Given the description of an element on the screen output the (x, y) to click on. 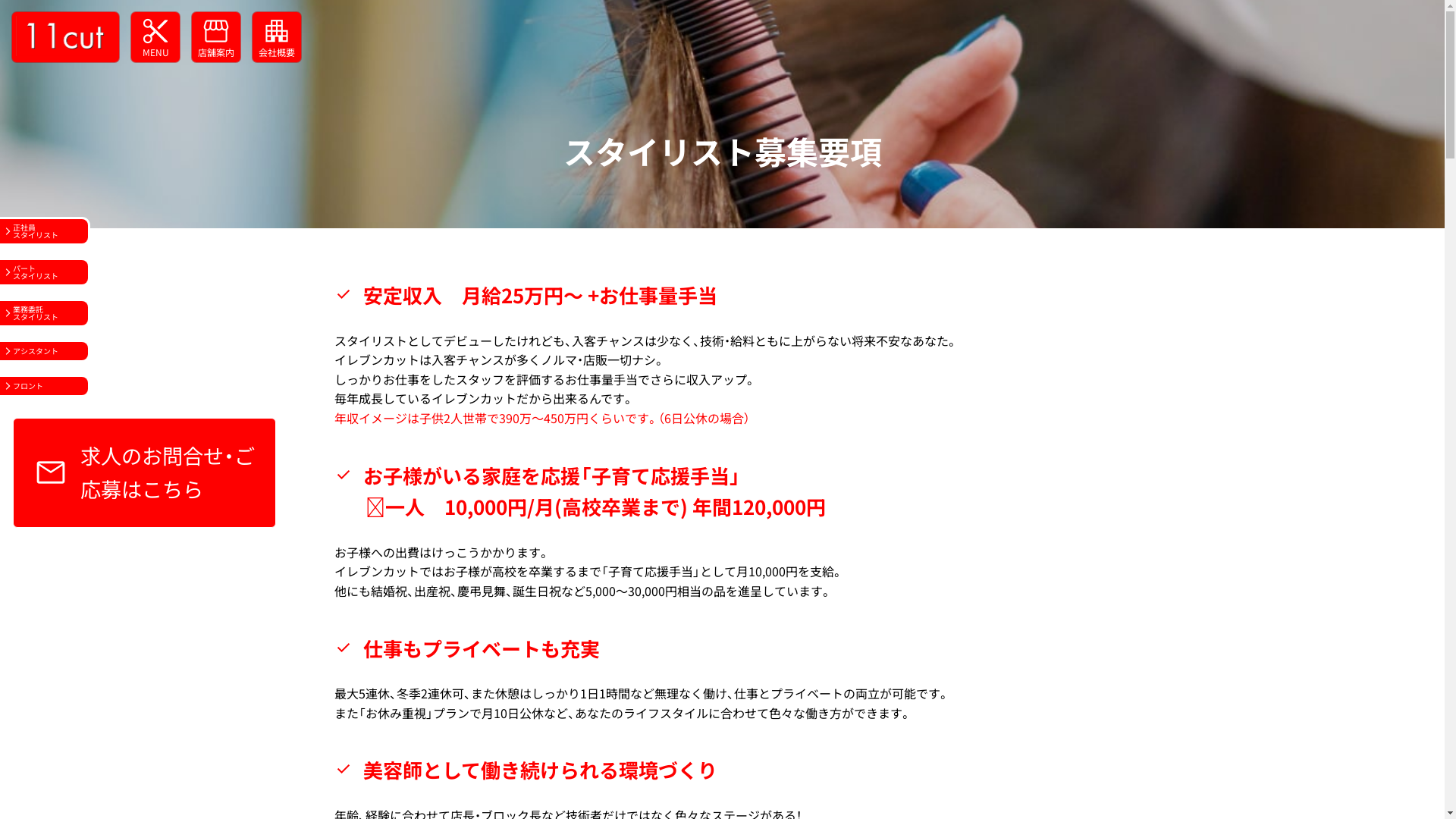
cut
MENU Element type: text (155, 37)
